Given the description of an element on the screen output the (x, y) to click on. 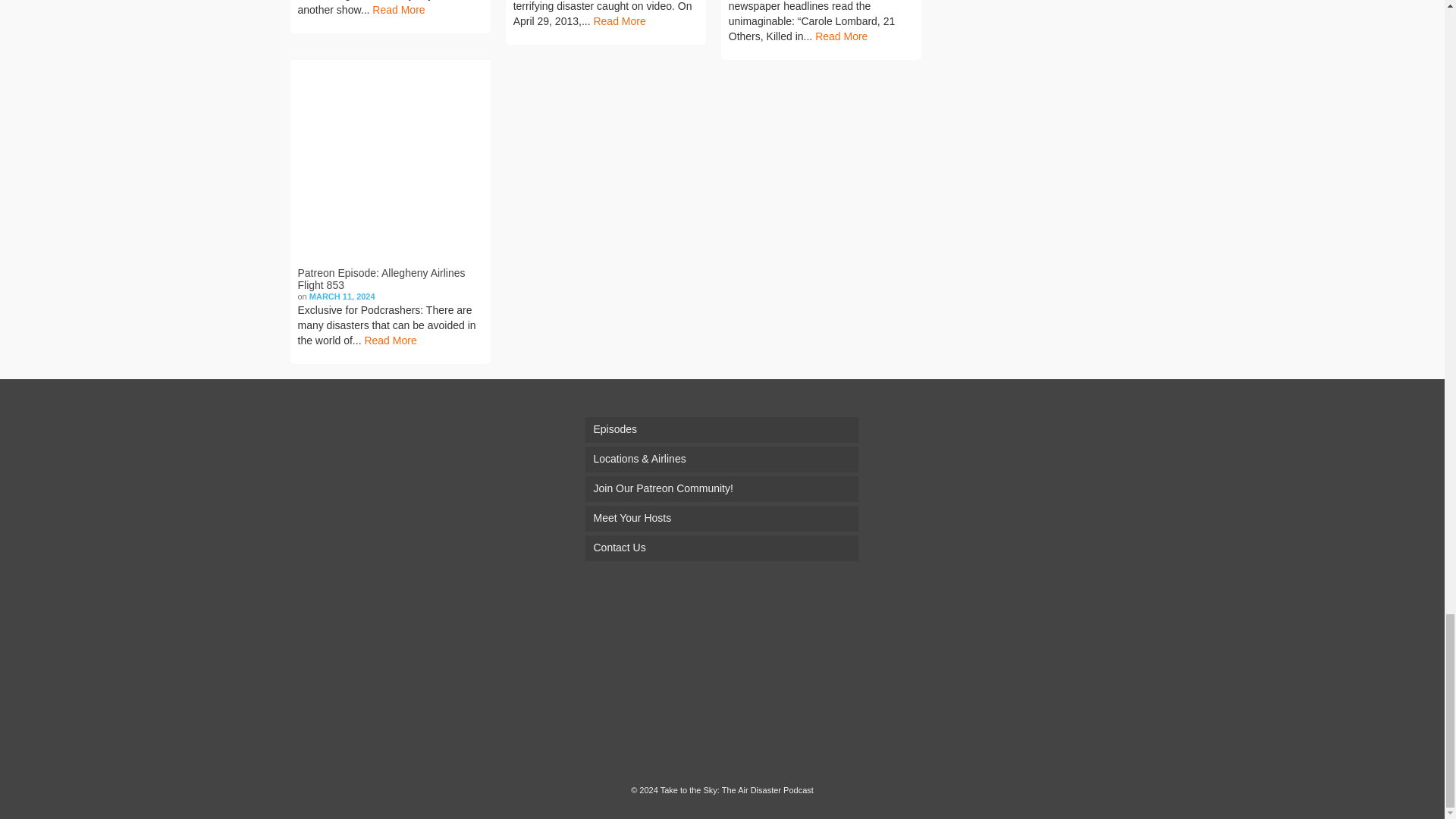
Patreon Episode: Allegheny Airlines Flight 853 (389, 159)
